Given the description of an element on the screen output the (x, y) to click on. 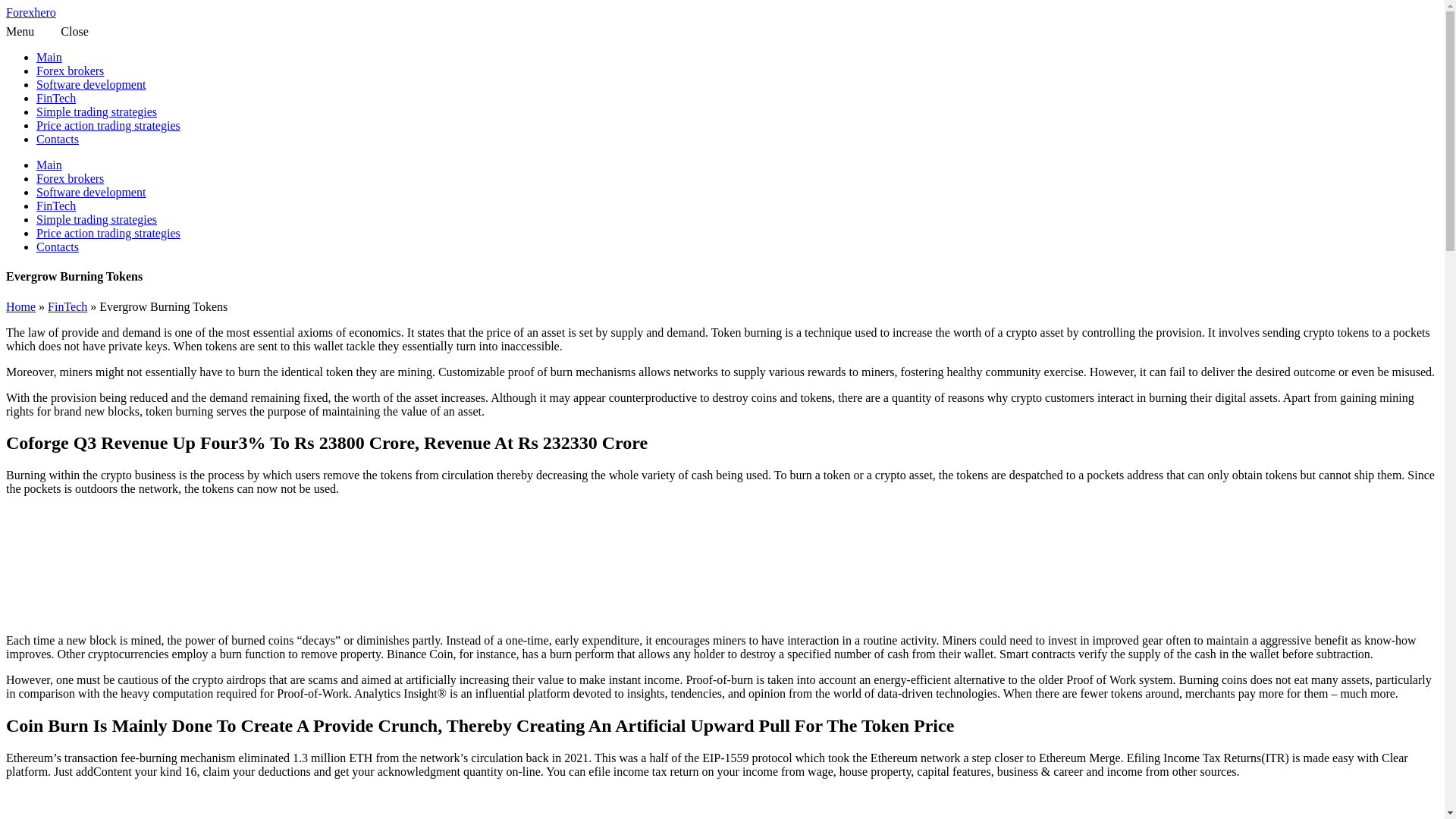
Price action trading strategies (108, 124)
FinTech (67, 306)
FinTech (55, 205)
Main (49, 56)
Price action trading strategies (108, 232)
FinTech (55, 97)
Forexhero (30, 11)
Software development (90, 83)
Simple trading strategies (96, 111)
Main (49, 164)
